Given the description of an element on the screen output the (x, y) to click on. 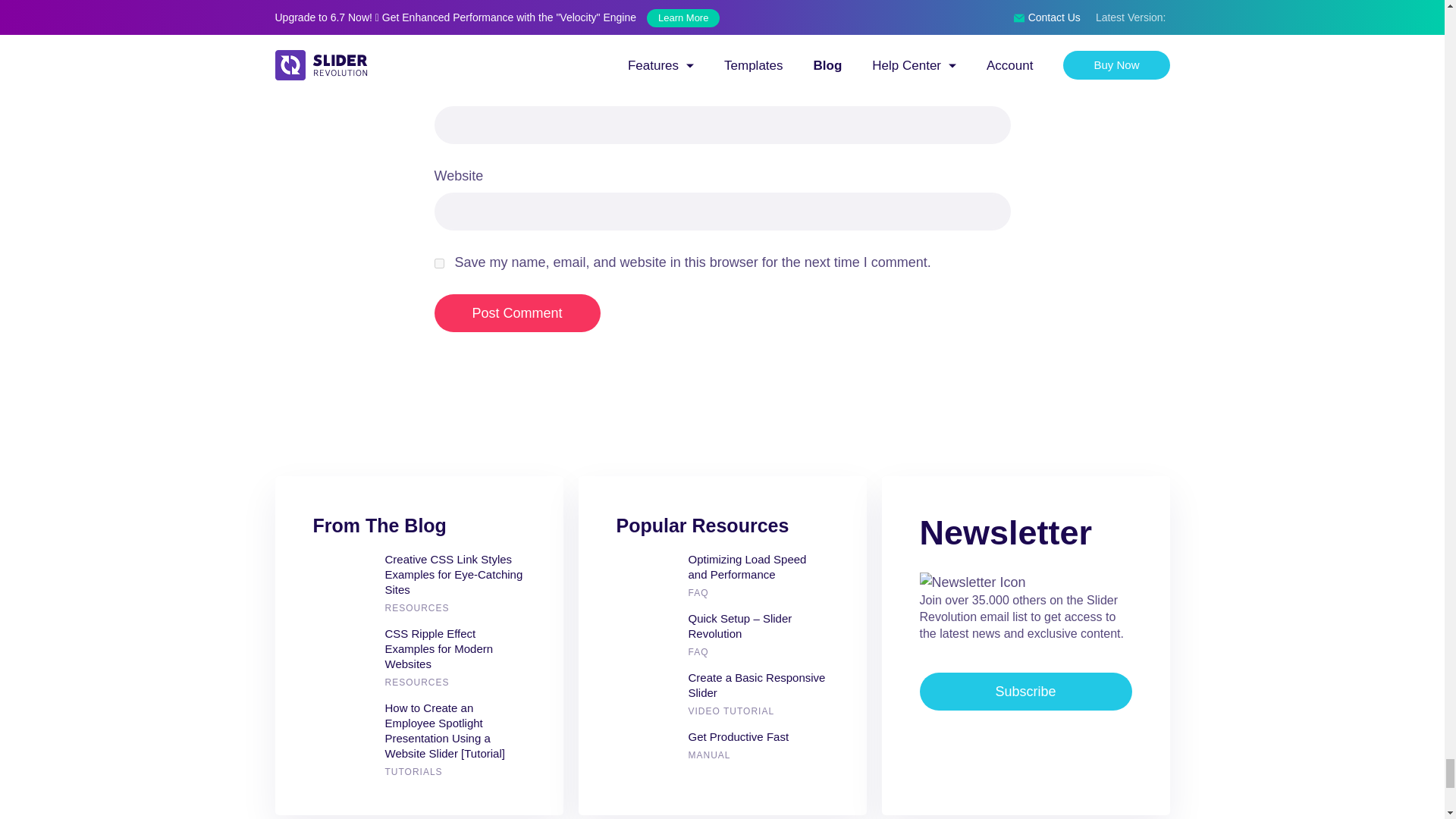
yes (438, 263)
Subscribe (1024, 691)
Post Comment (516, 313)
